Given the description of an element on the screen output the (x, y) to click on. 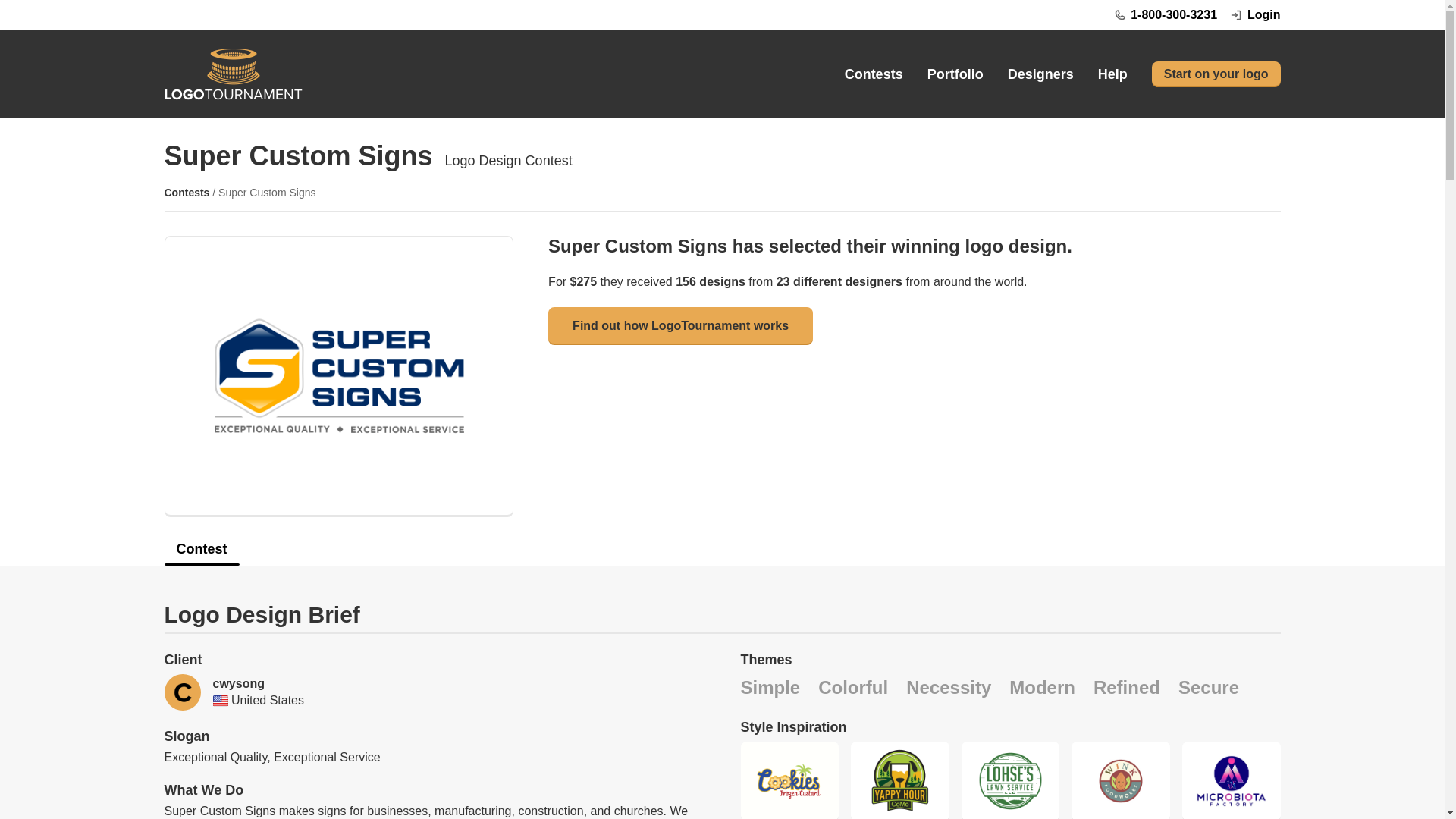
Designers (1040, 74)
Contests (873, 74)
Find out how LogoTournament works (680, 325)
Help (1111, 74)
Contests (186, 192)
1-800-300-3231 (1165, 15)
Contest (200, 553)
Start on your logo (1216, 73)
Portfolio (955, 74)
Login (1253, 15)
Contest (721, 553)
cwysong (237, 683)
United States (219, 700)
